Given the description of an element on the screen output the (x, y) to click on. 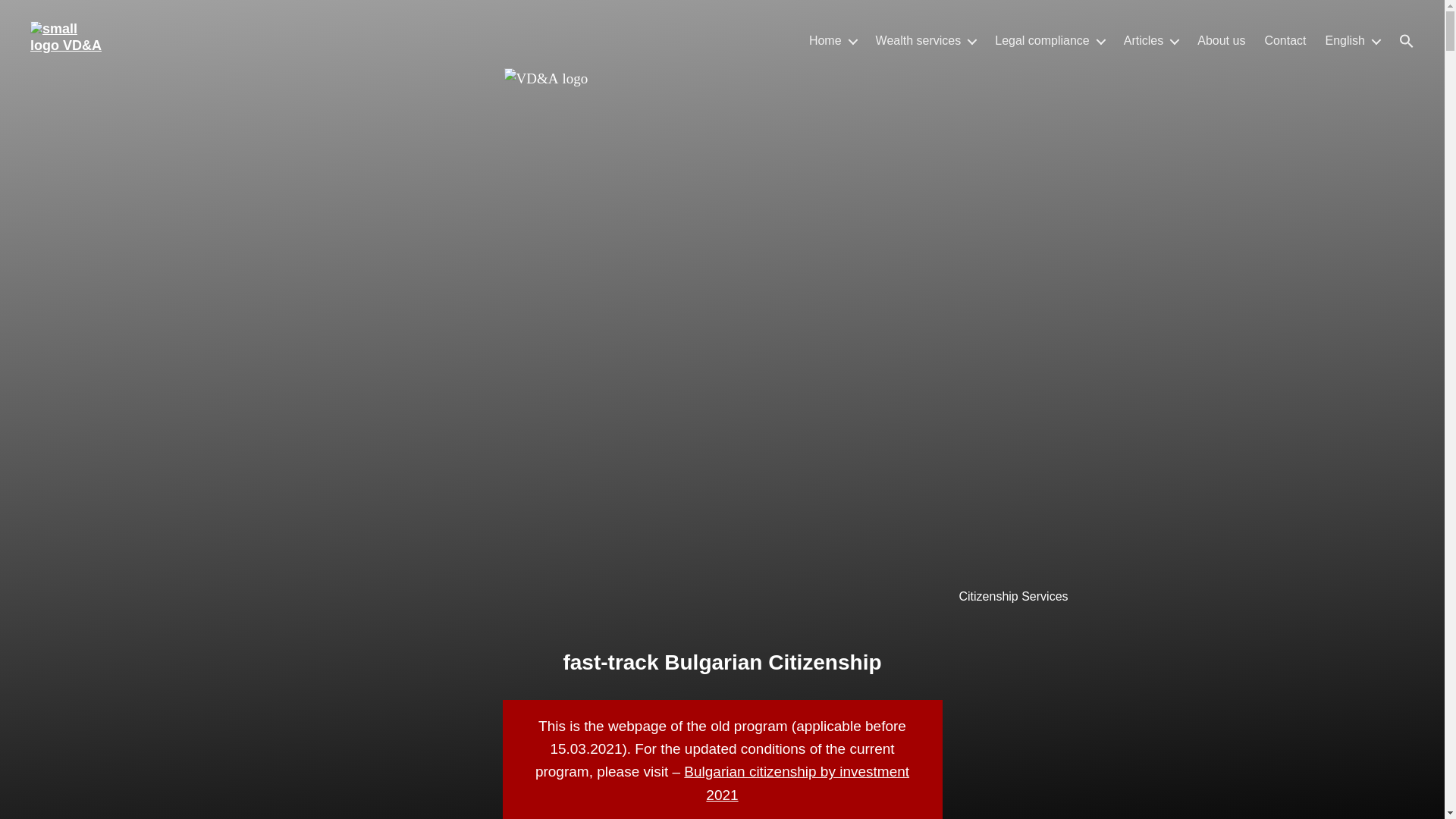
Home (833, 40)
Wealth services (926, 40)
About us (1220, 40)
Contact (1284, 40)
English (1352, 40)
Articles (1150, 40)
Legal compliance (1049, 40)
